Given the description of an element on the screen output the (x, y) to click on. 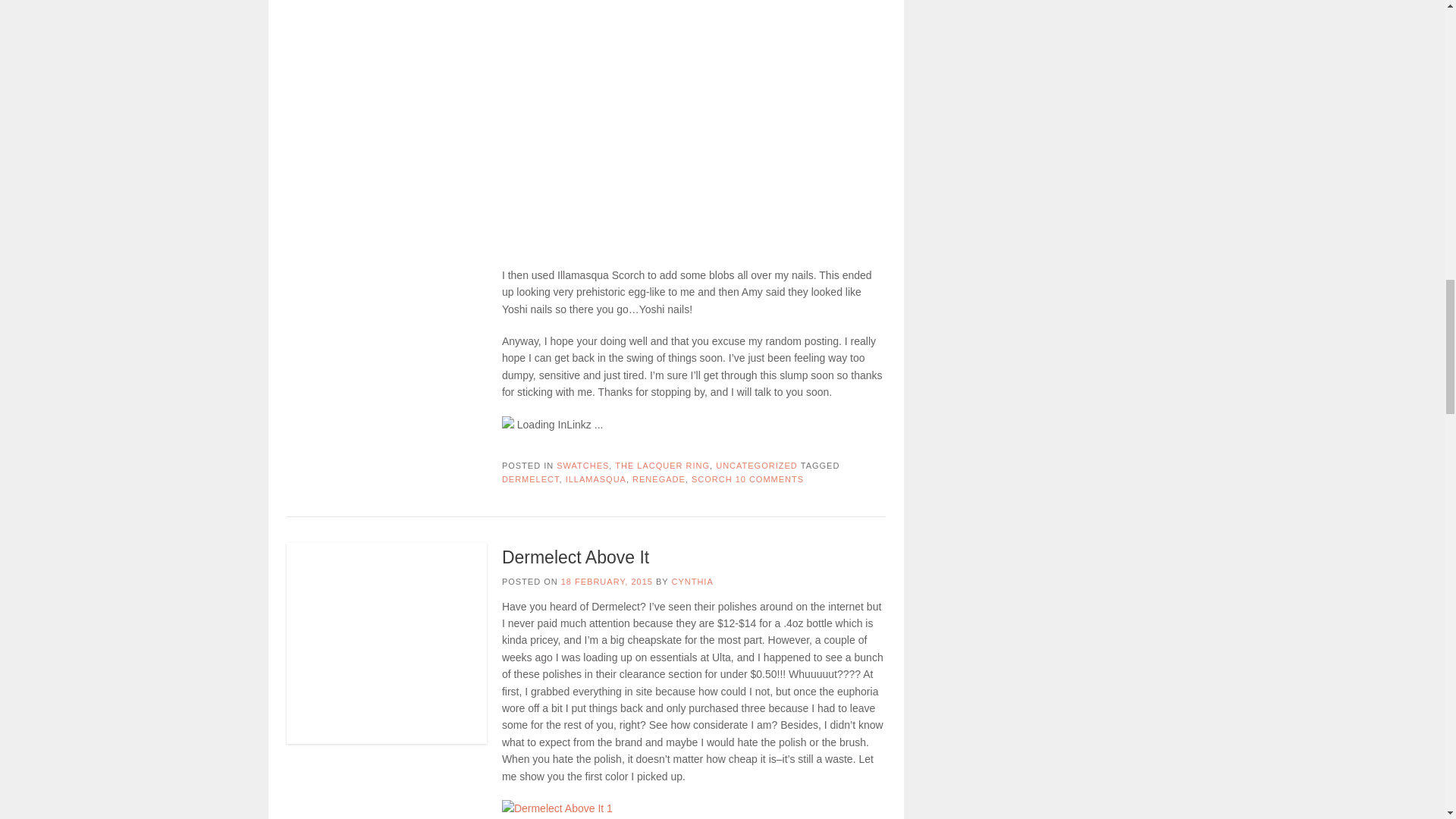
RENEGADE (658, 479)
SCORCH (711, 479)
10 COMMENTS (769, 479)
THE LACQUER RING (662, 465)
CYNTHIA (692, 581)
18 FEBRUARY, 2015 (606, 581)
Dermelect Above It (575, 557)
UNCATEGORIZED (756, 465)
ILLAMASQUA (596, 479)
SWATCHES (582, 465)
